Given the description of an element on the screen output the (x, y) to click on. 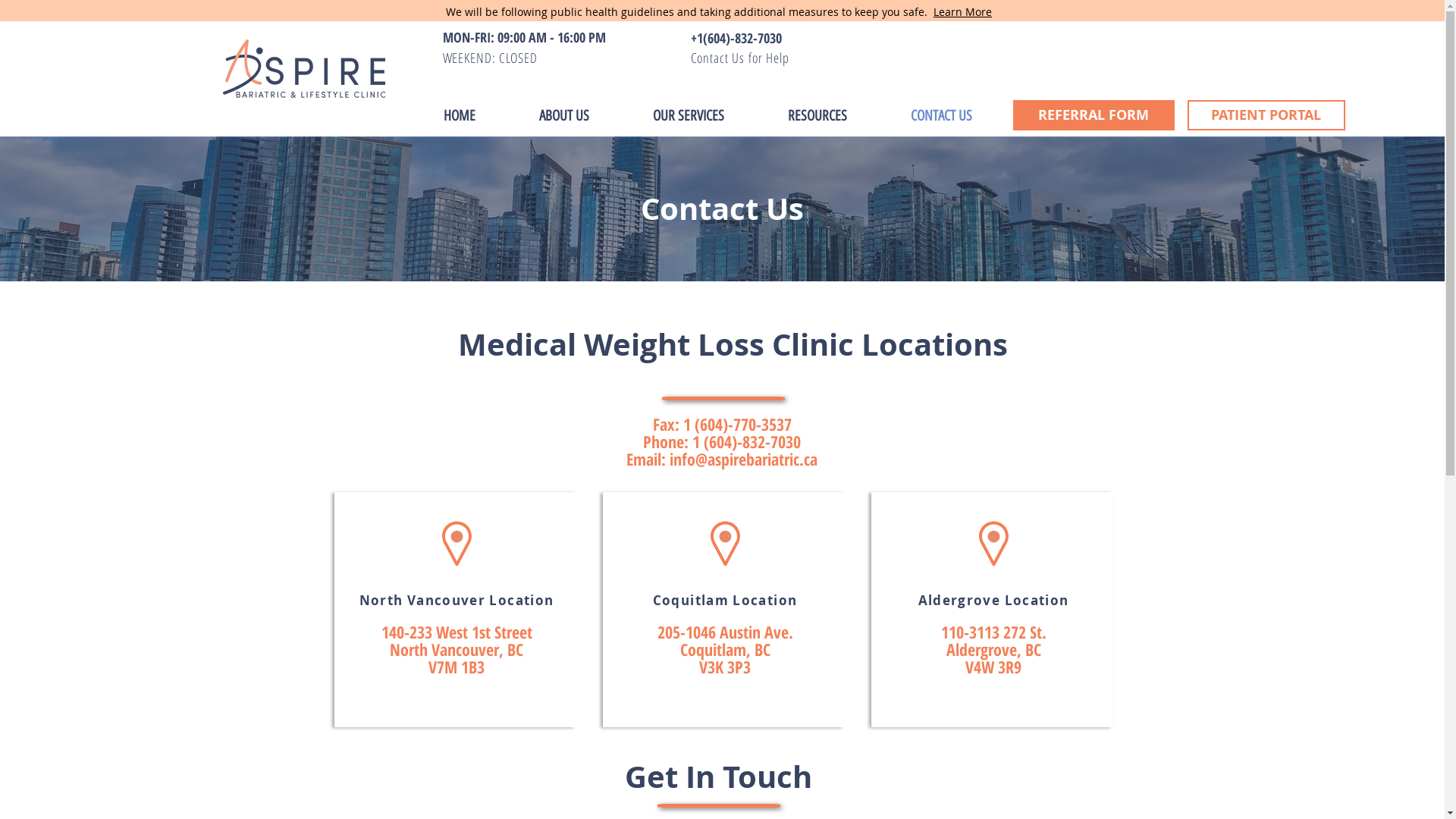
RESOURCES Element type: text (816, 115)
North Vancouver Location Element type: text (456, 598)
ABOUT US Element type: text (563, 115)
CONTACT US Element type: text (940, 115)
PATIENT PORTAL Element type: text (1266, 115)
OUR SERVICES Element type: text (687, 115)
Coquitlam Location Element type: text (724, 598)
Learn More Element type: text (962, 11)
HOME Element type: text (458, 115)
Aldergrove Location Element type: text (993, 598)
REFERRAL FORM Element type: text (1093, 115)
info@aspirebariatric.ca Element type: text (743, 458)
